Given the description of an element on the screen output the (x, y) to click on. 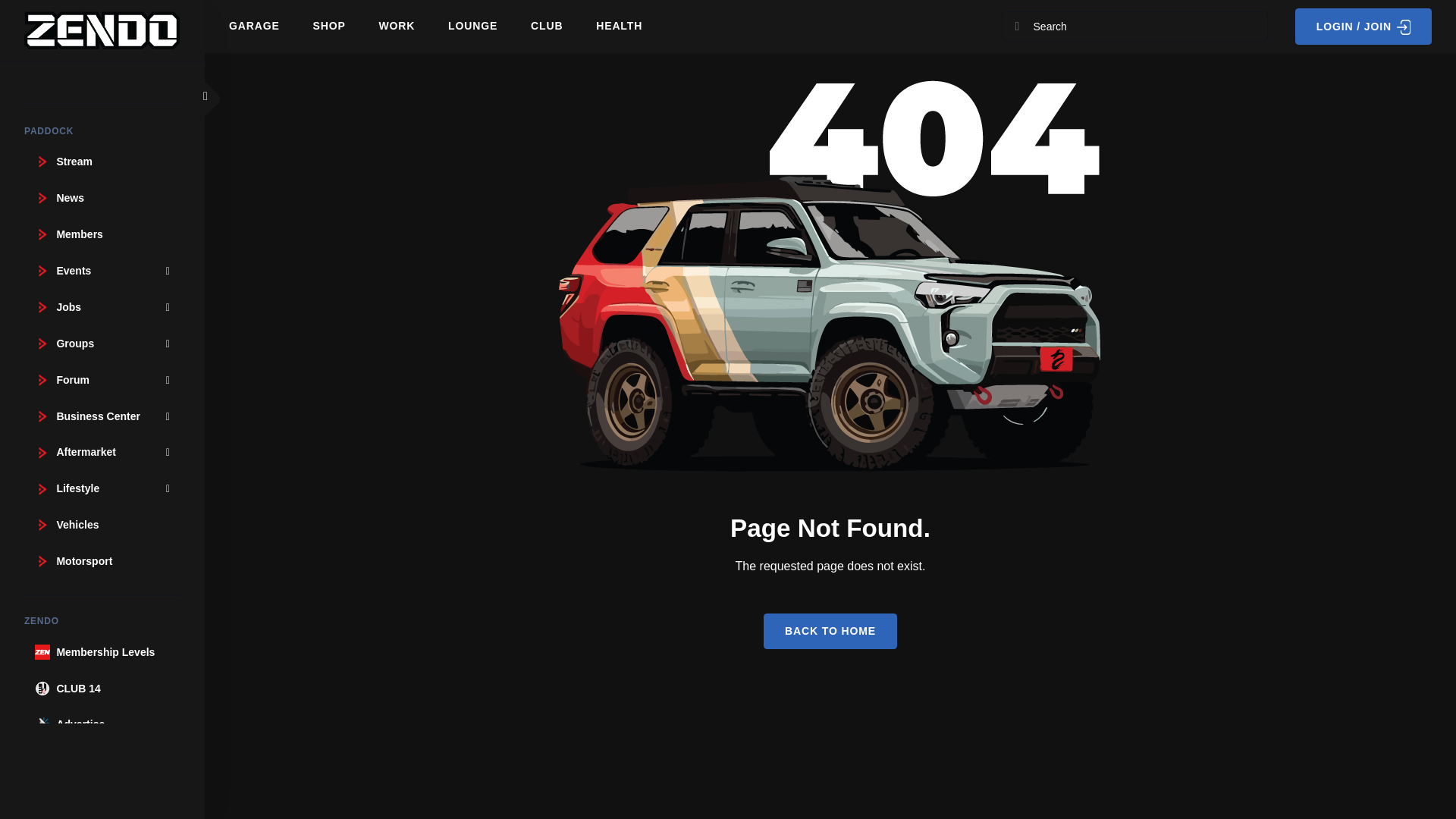
News (41, 197)
News (102, 197)
Jobs (102, 306)
Business Center (102, 416)
Members (102, 234)
Events (41, 270)
Stream (41, 160)
Forum (102, 379)
Groups (102, 343)
Jobs (41, 306)
